Given the description of an element on the screen output the (x, y) to click on. 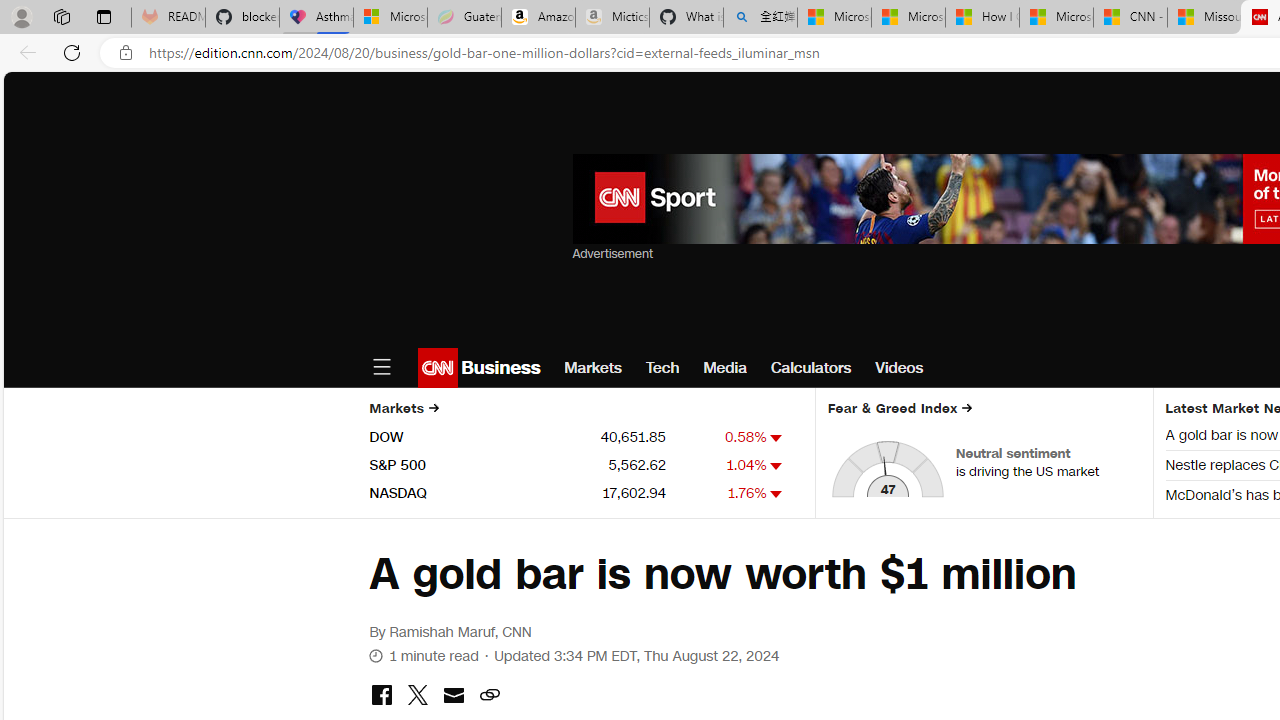
Markets (593, 367)
AutomationID: fear-and-greed-dial (888, 467)
share with x (417, 696)
Class: icon-ui-link (489, 695)
Videos (899, 367)
Media (724, 367)
